Given the description of an element on the screen output the (x, y) to click on. 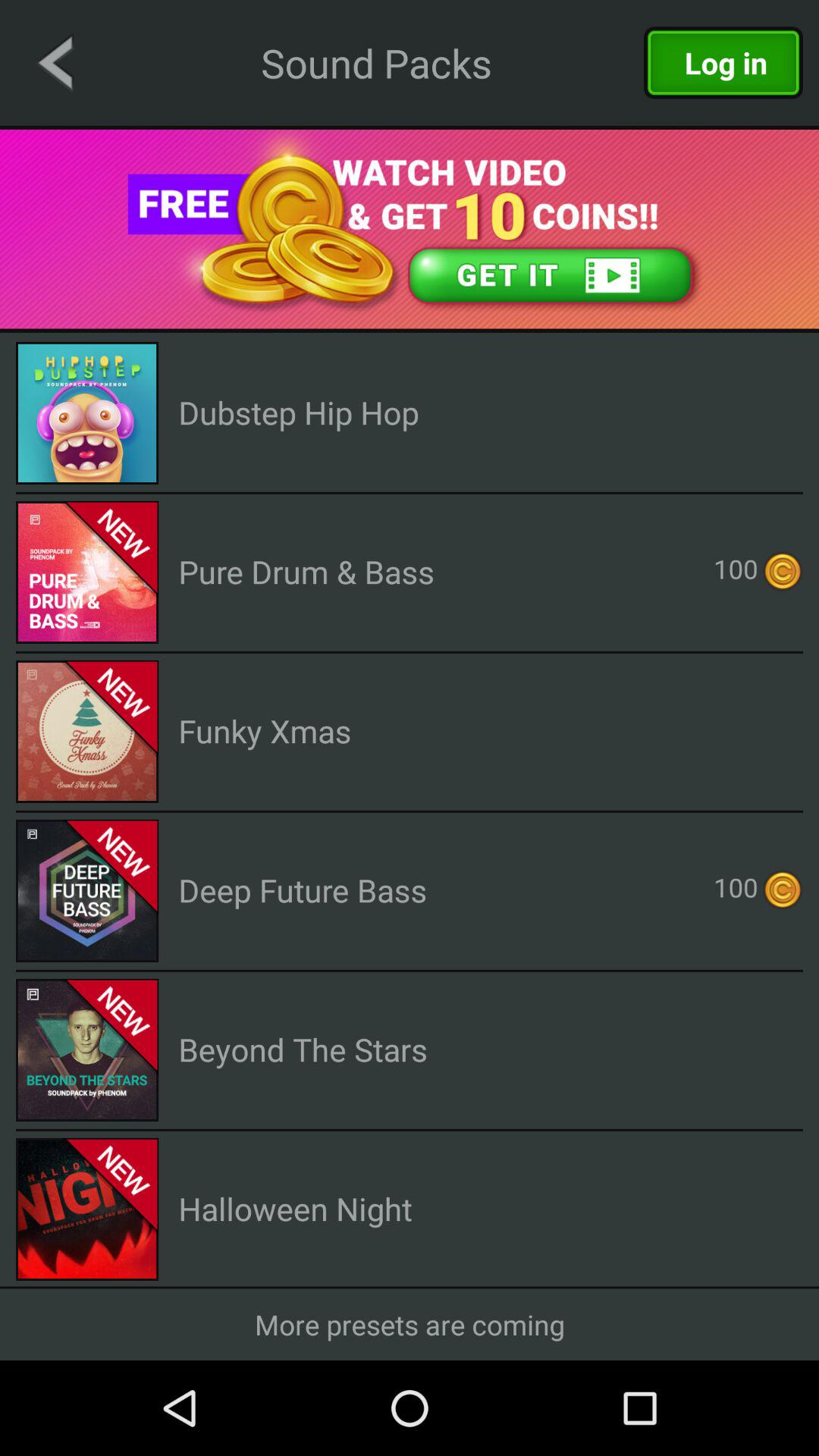
scroll to beyond the stars item (302, 1048)
